Given the description of an element on the screen output the (x, y) to click on. 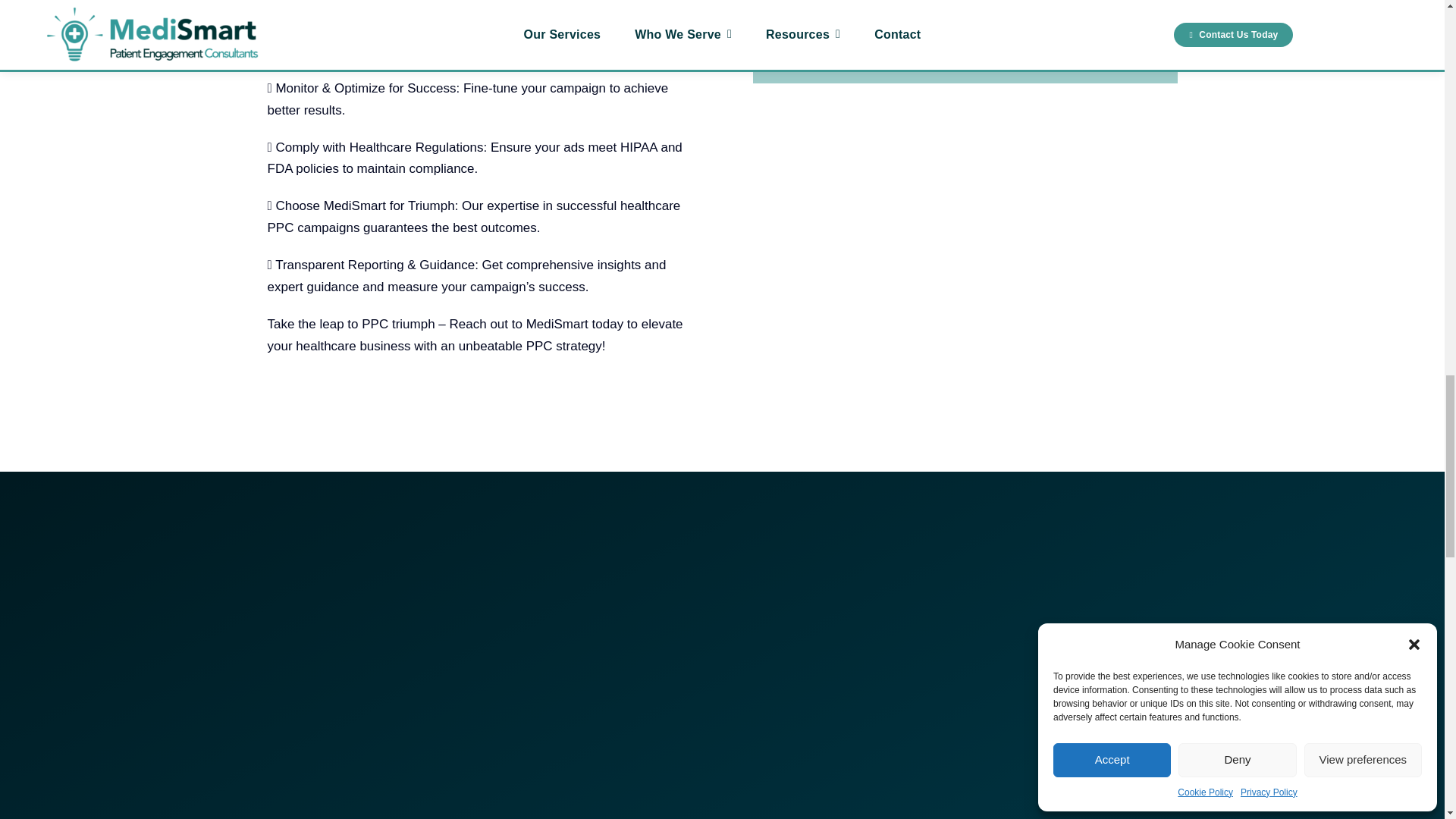
IME Ontario (825, 57)
IME Clinic (820, 6)
